Given the description of an element on the screen output the (x, y) to click on. 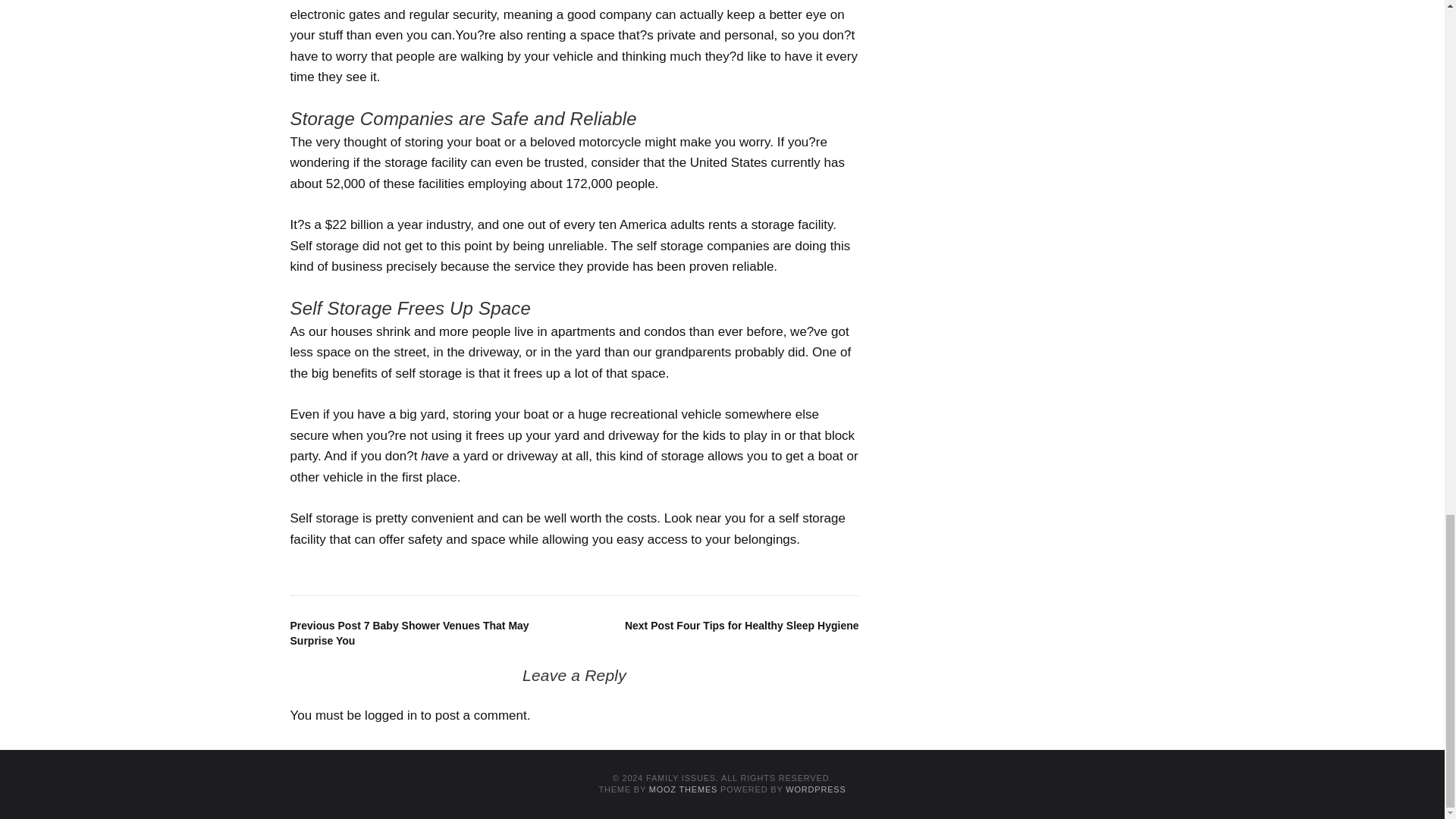
Previous Post 7 Baby Shower Venues That May Surprise You (408, 633)
WORDPRESS (815, 788)
MOOZ THEMES (683, 788)
Next Post Four Tips for Healthy Sleep Hygiene (741, 625)
logged in (390, 715)
